Given the description of an element on the screen output the (x, y) to click on. 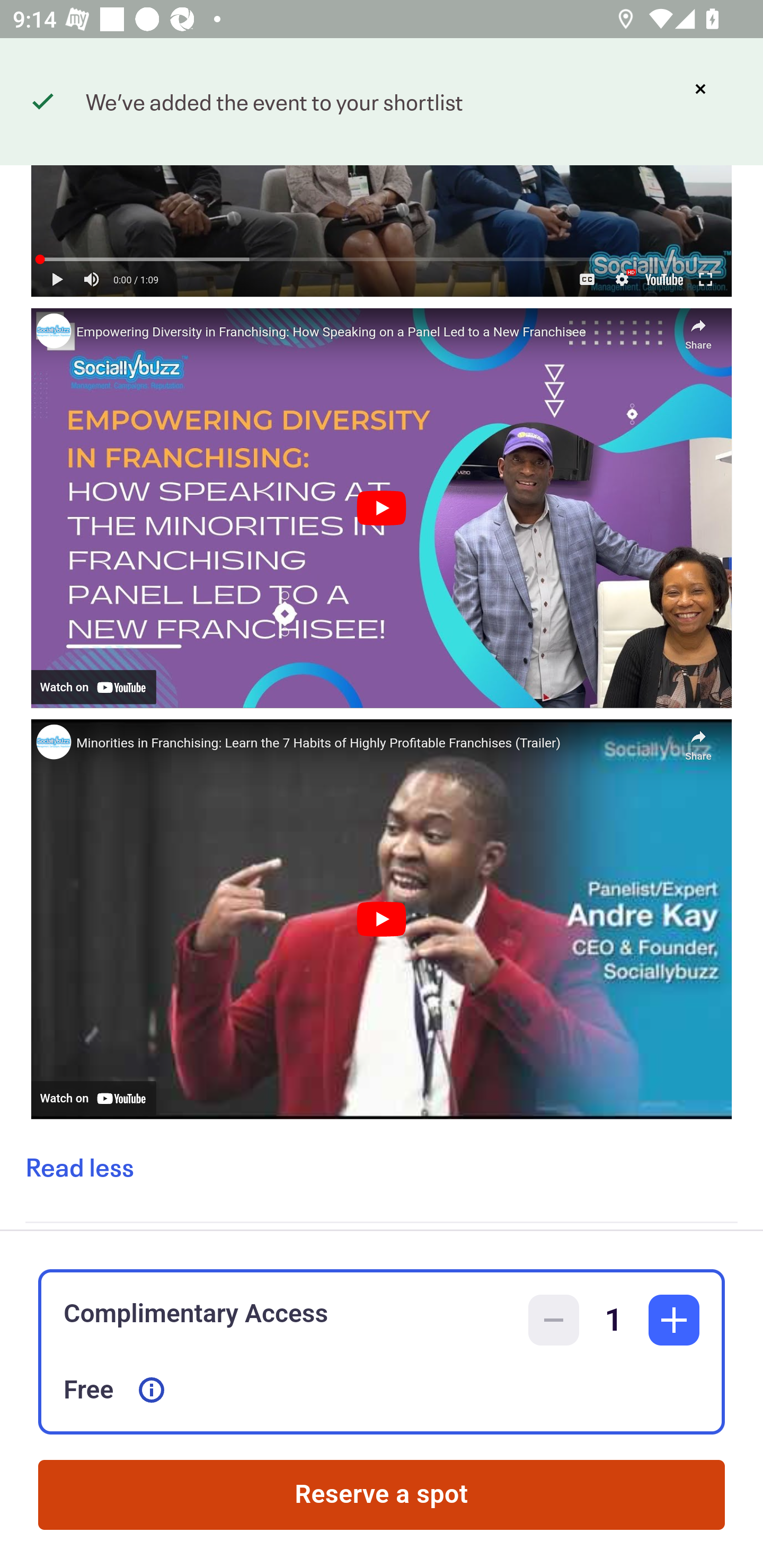
Back (57, 94)
Share (705, 94)
Play (56, 278)
Mute (91, 278)
0:00 / 1:09 (135, 278)
Subtitles/closed captions (586, 278)
Settings (621, 278)
Watch on YouTube (663, 278)
Full screen (704, 278)
Share (697, 329)
Photo image of Sociallybuzz, Inc (52, 330)
Play (380, 507)
Watch on YouTube (93, 686)
Share (697, 740)
Photo image of Sociallybuzz, Inc (52, 741)
Play (380, 918)
Watch on YouTube (93, 1097)
Read less (79, 1166)
Decrease (553, 1320)
Increase (673, 1320)
Show more information (151, 1389)
Reserve a spot (381, 1494)
